Given the description of an element on the screen output the (x, y) to click on. 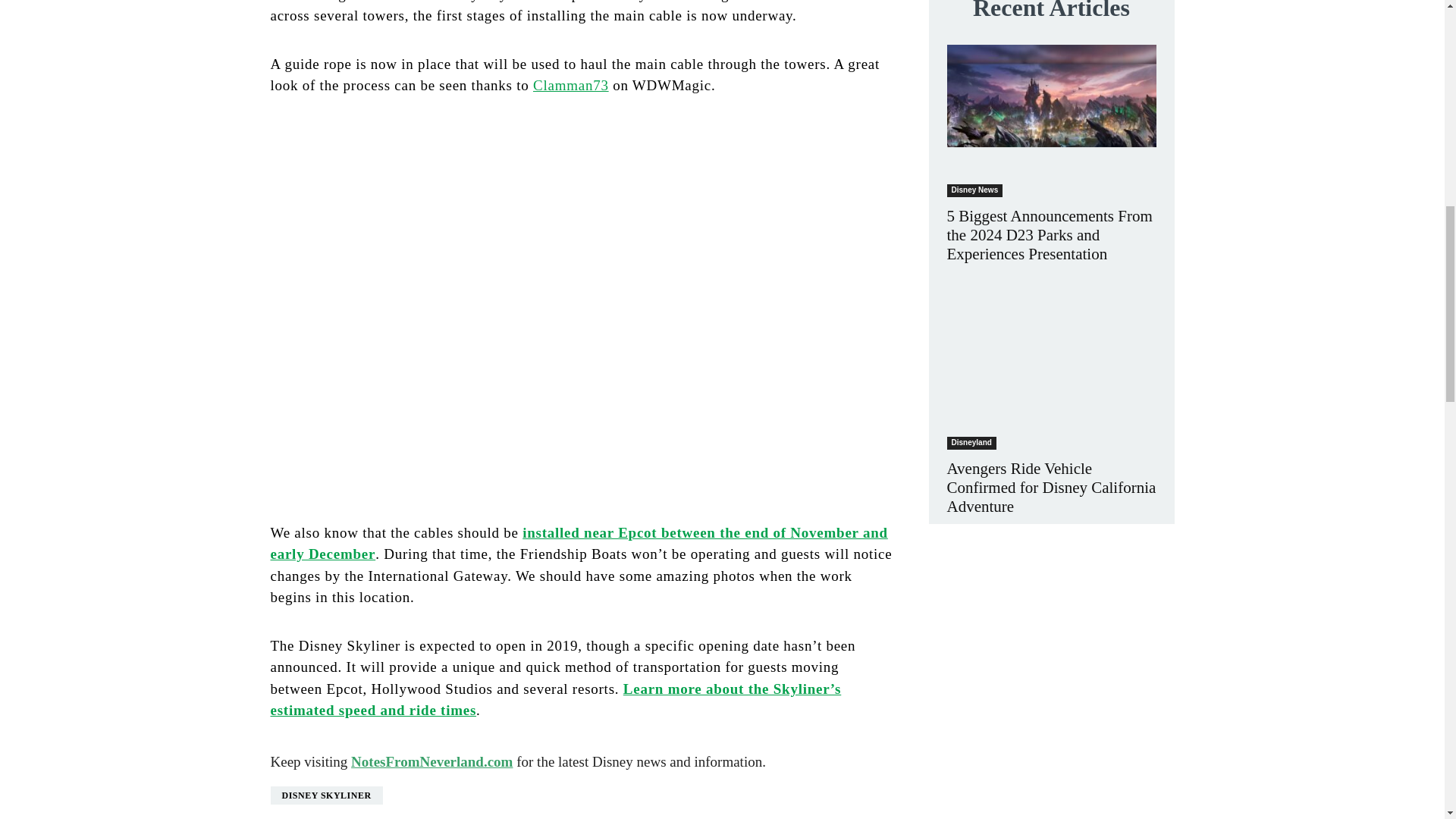
NotesFromNeverland.com (431, 761)
Clamman73 (570, 84)
DISNEY SKYLINER (325, 795)
